Given the description of an element on the screen output the (x, y) to click on. 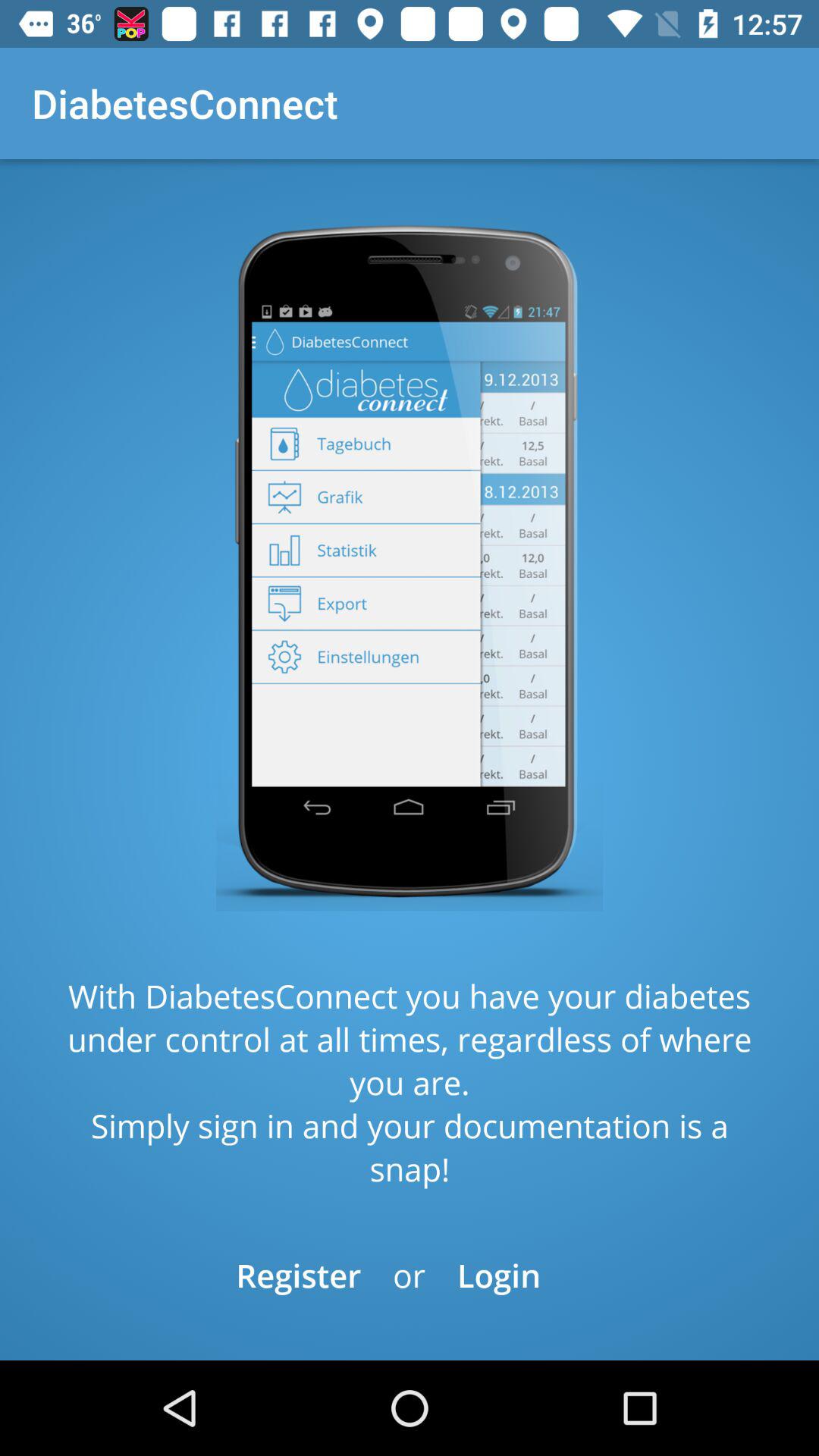
turn off the item below with diabetesconnect you icon (298, 1275)
